Given the description of an element on the screen output the (x, y) to click on. 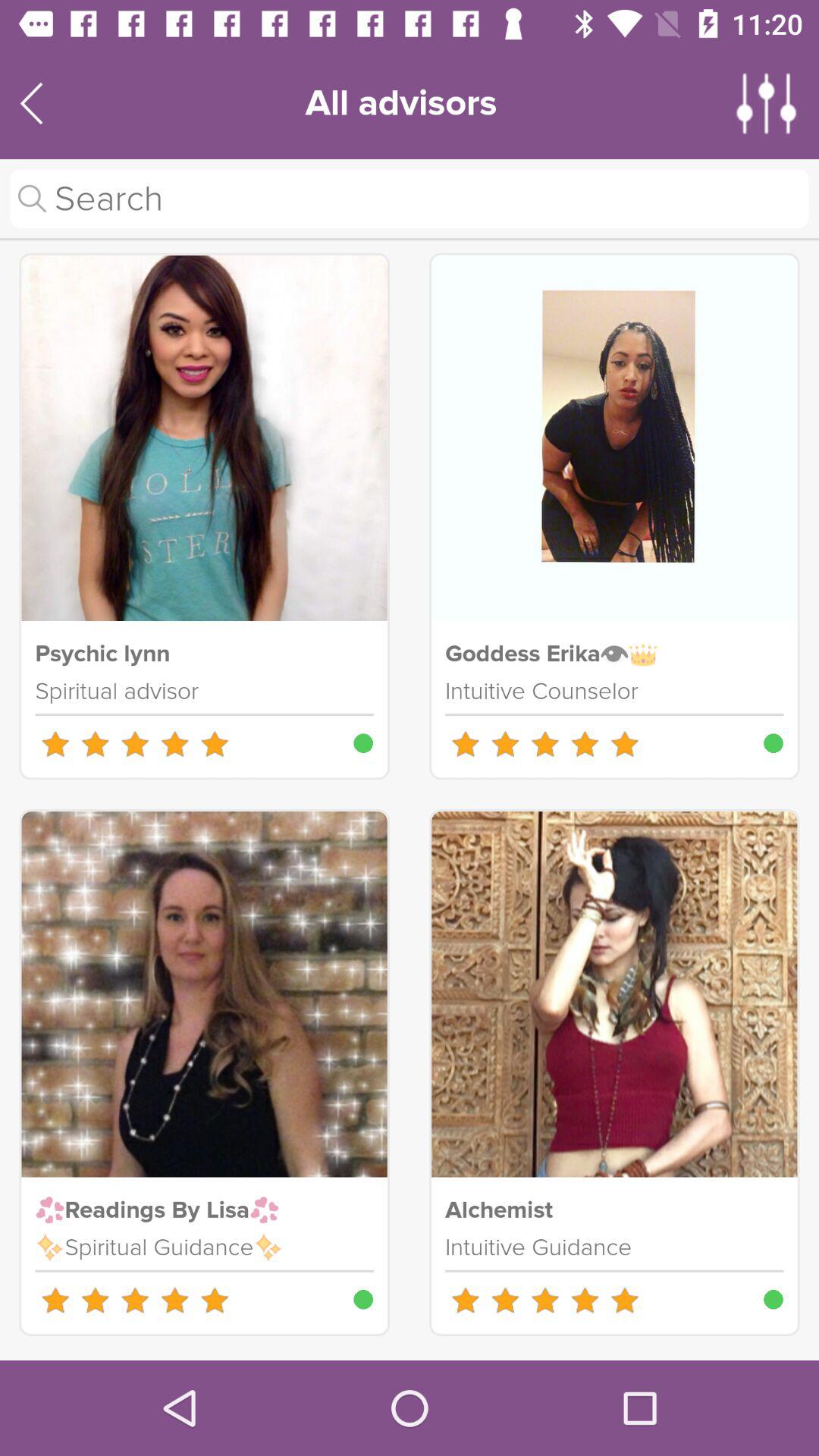
change appearance (767, 103)
